Given the description of an element on the screen output the (x, y) to click on. 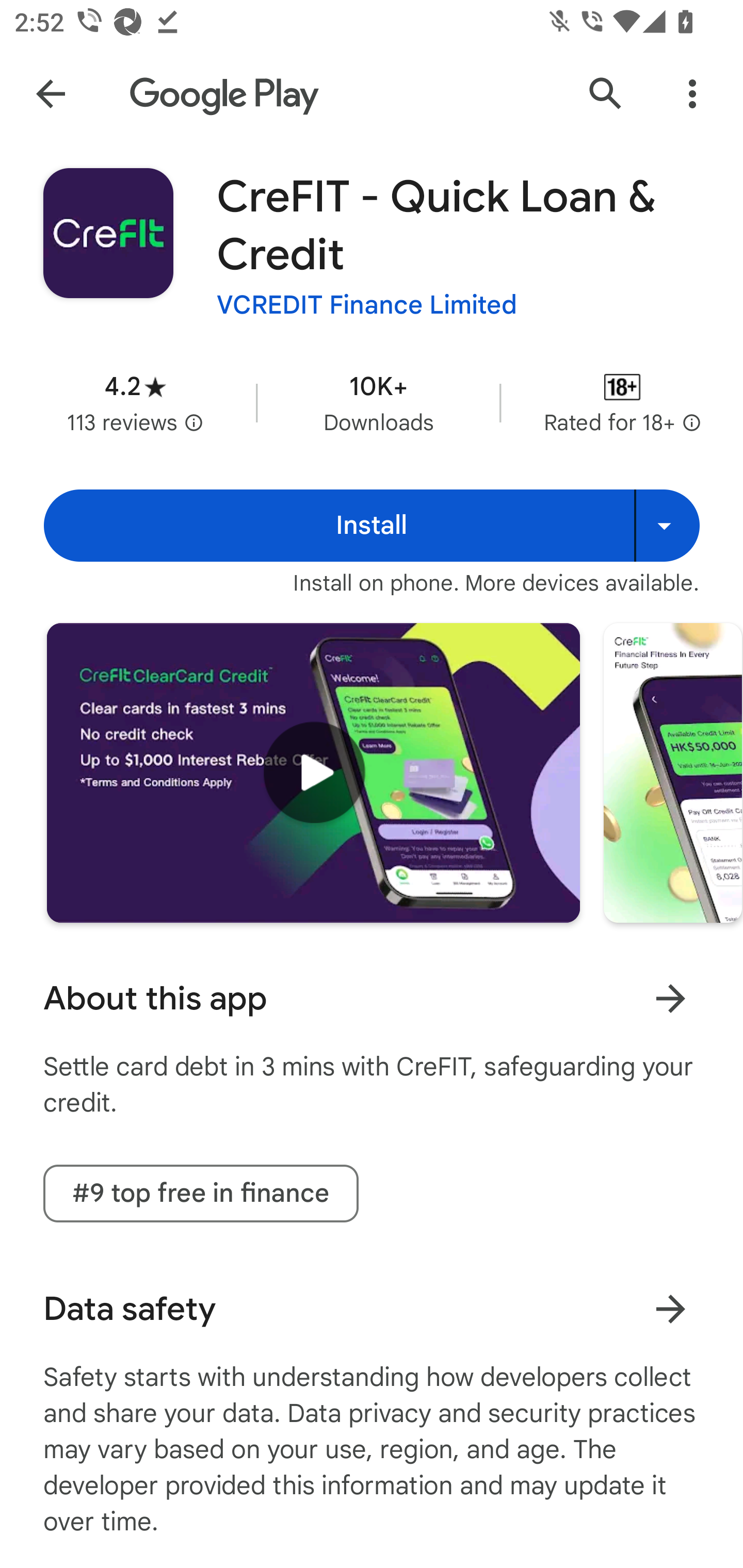
Navigate up (50, 93)
Search Google Play (605, 93)
More Options (692, 93)
VCREDIT Finance Limited (366, 304)
Average rating 4.2 stars in 113 reviews (135, 402)
Content rating Rated for 18+ (622, 402)
Install Install Install on more devices (371, 525)
Install on more devices (667, 525)
Play trailer for "CreFIT - Quick Loan & Credit" (313, 771)
About this app Learn more About this app (371, 998)
Learn more About this app (670, 997)
#9 top free in finance tag (200, 1193)
Data safety Learn more about data safety (371, 1309)
Learn more about data safety (670, 1308)
